Given the description of an element on the screen output the (x, y) to click on. 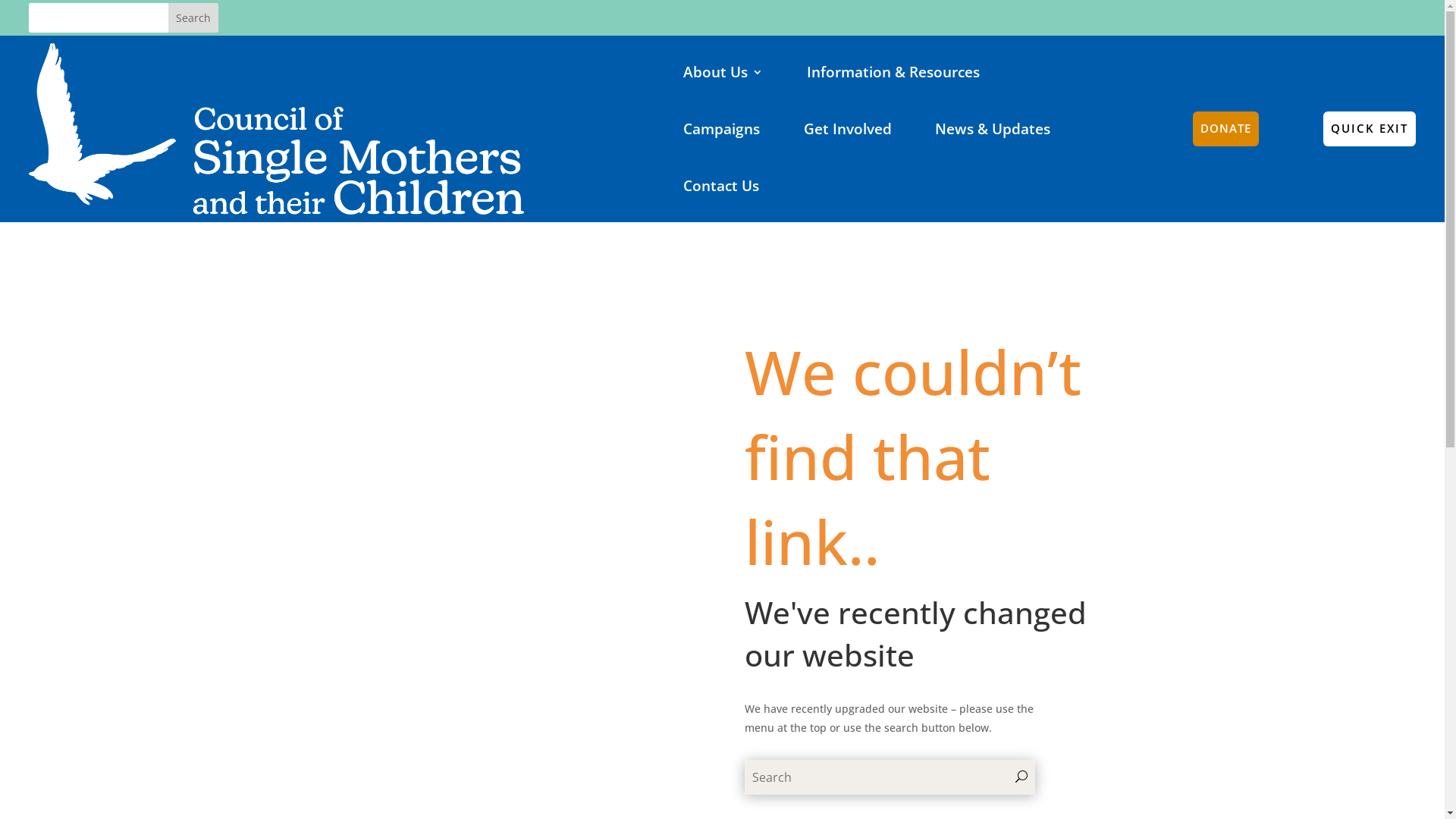
Contact Us Element type: text (721, 185)
Get Involved Element type: text (847, 128)
Campaigns Element type: text (721, 128)
QUICK EXIT Element type: text (1369, 128)
About Us Element type: text (722, 71)
News & Updates Element type: text (992, 128)
DONATE Element type: text (1225, 128)
Information & Resources Element type: text (892, 71)
Search Element type: text (193, 17)
